Given the description of an element on the screen output the (x, y) to click on. 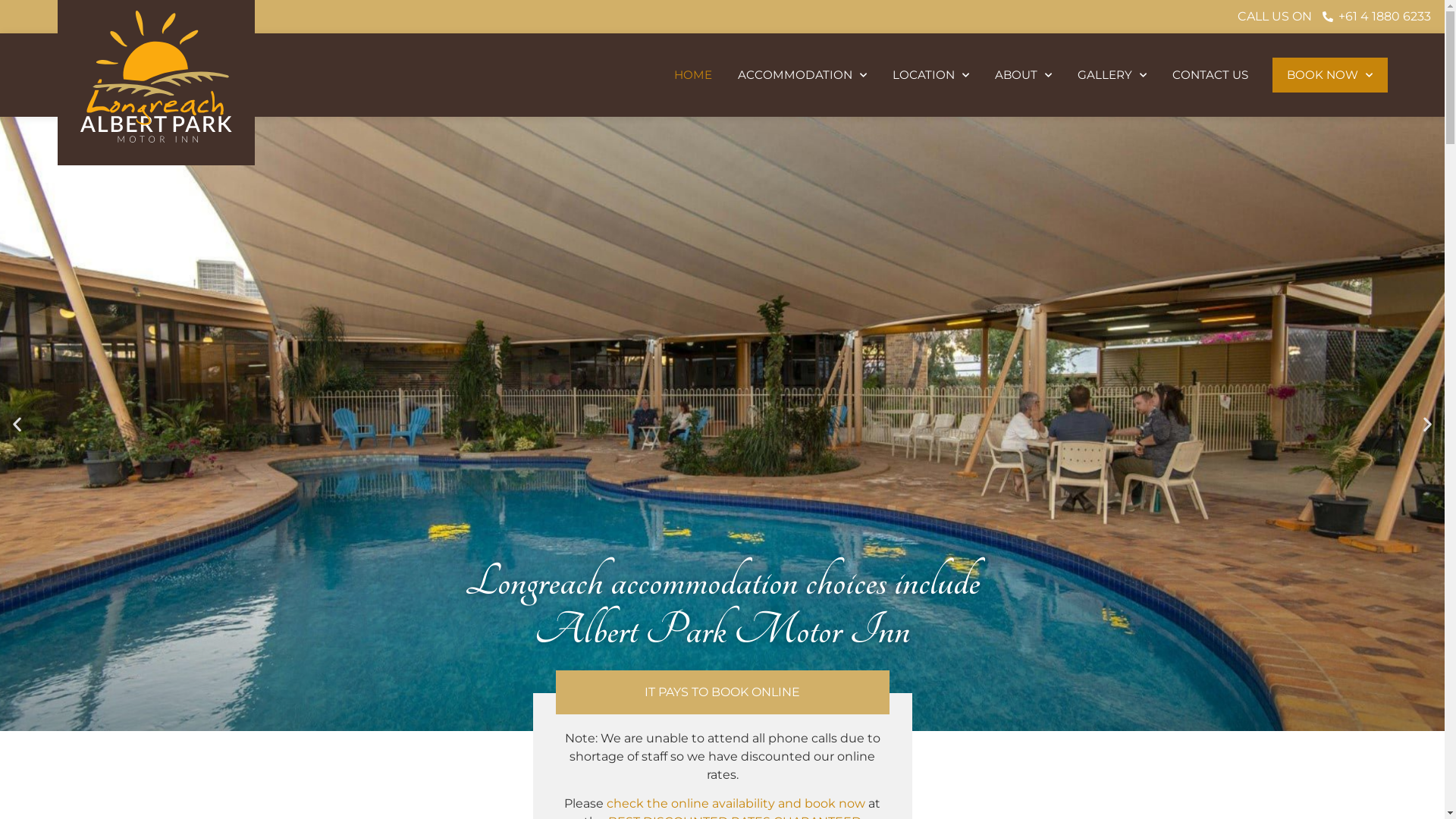
CONTACT US Element type: text (1209, 74)
HOME Element type: text (692, 74)
LOCATION Element type: text (930, 74)
ACCOMMODATION Element type: text (801, 74)
check the online availability and book now Element type: text (735, 803)
GALLERY Element type: text (1111, 74)
BOOK NOW Element type: text (1330, 74)
IT PAYS TO BOOK ONLINE Element type: text (722, 691)
+61 4 1880 6233 Element type: text (1375, 16)
ABOUT Element type: text (1022, 74)
